Given the description of an element on the screen output the (x, y) to click on. 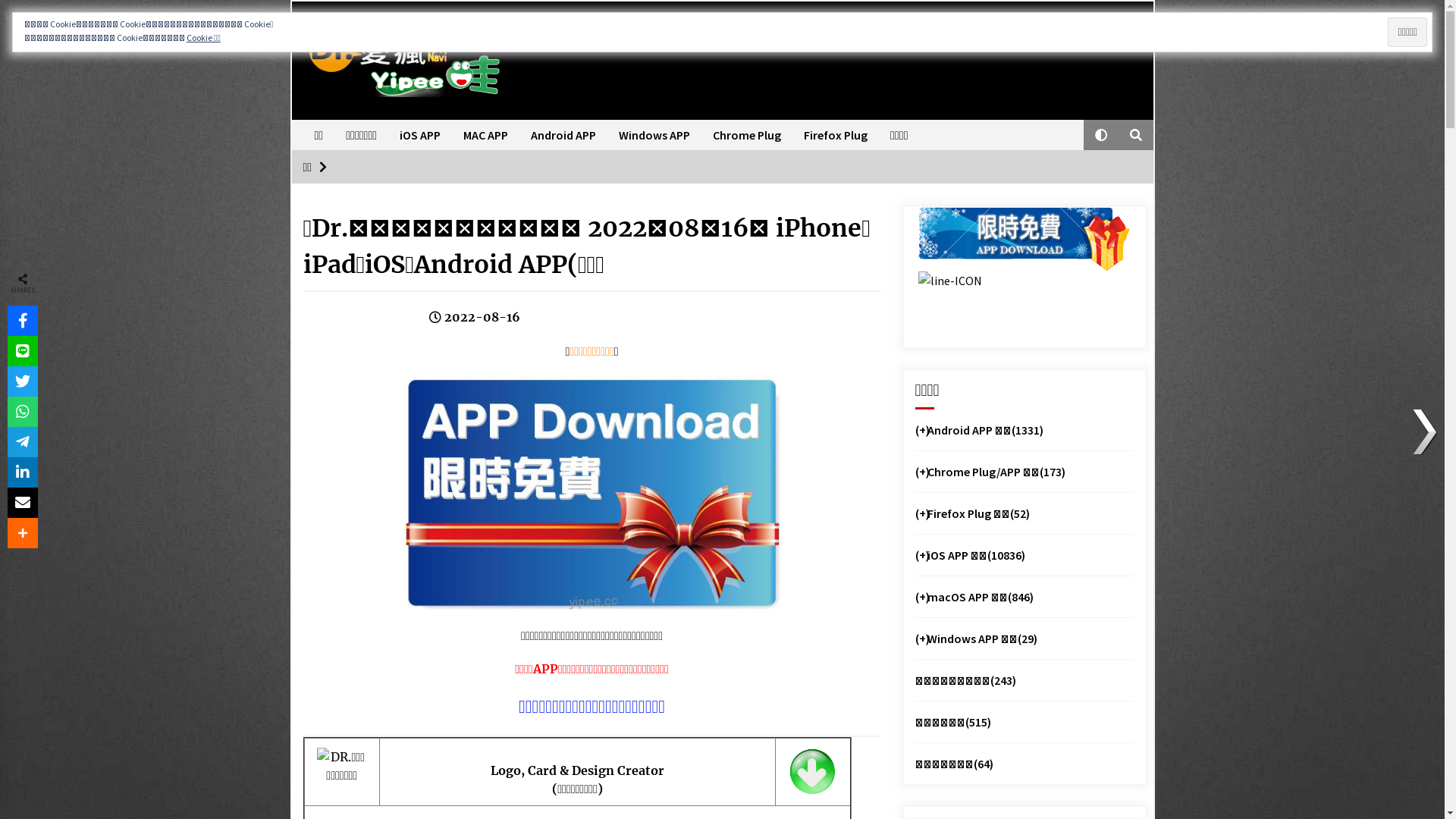
Line Element type: hover (22, 350)
Tweet this ! Element type: hover (22, 381)
WhatsApp Element type: hover (22, 411)
Add this to LinkedIn Element type: hover (22, 472)
(+) Element type: text (920, 513)
More share links Element type: hover (22, 532)
Share this on Facebook Element type: hover (22, 320)
(+) Element type: text (920, 429)
Windows APP Element type: text (654, 134)
iOS APP Element type: text (419, 134)
Android APP Element type: text (563, 134)
Chrome Plug Element type: text (746, 134)
(+) Element type: text (920, 638)
Firefox Plug Element type: text (835, 134)
(+) Element type: text (920, 471)
(+) Element type: text (920, 555)
(+) Element type: text (920, 596)
Telegram Element type: hover (22, 441)
Email this  Element type: hover (22, 502)
MAC APP Element type: text (485, 134)
